Given the description of an element on the screen output the (x, y) to click on. 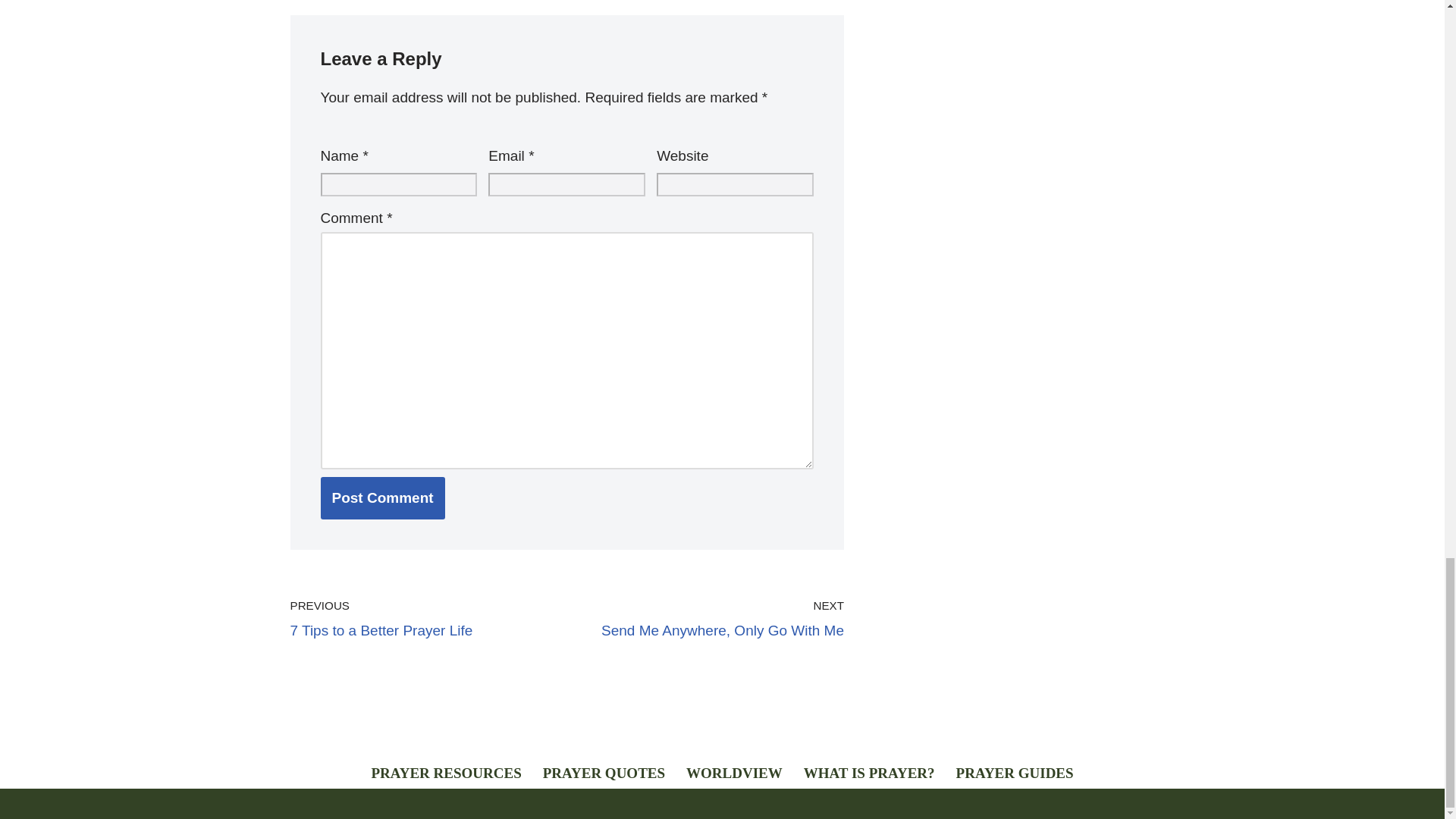
Post Comment (382, 497)
Post Comment (382, 497)
